Given the description of an element on the screen output the (x, y) to click on. 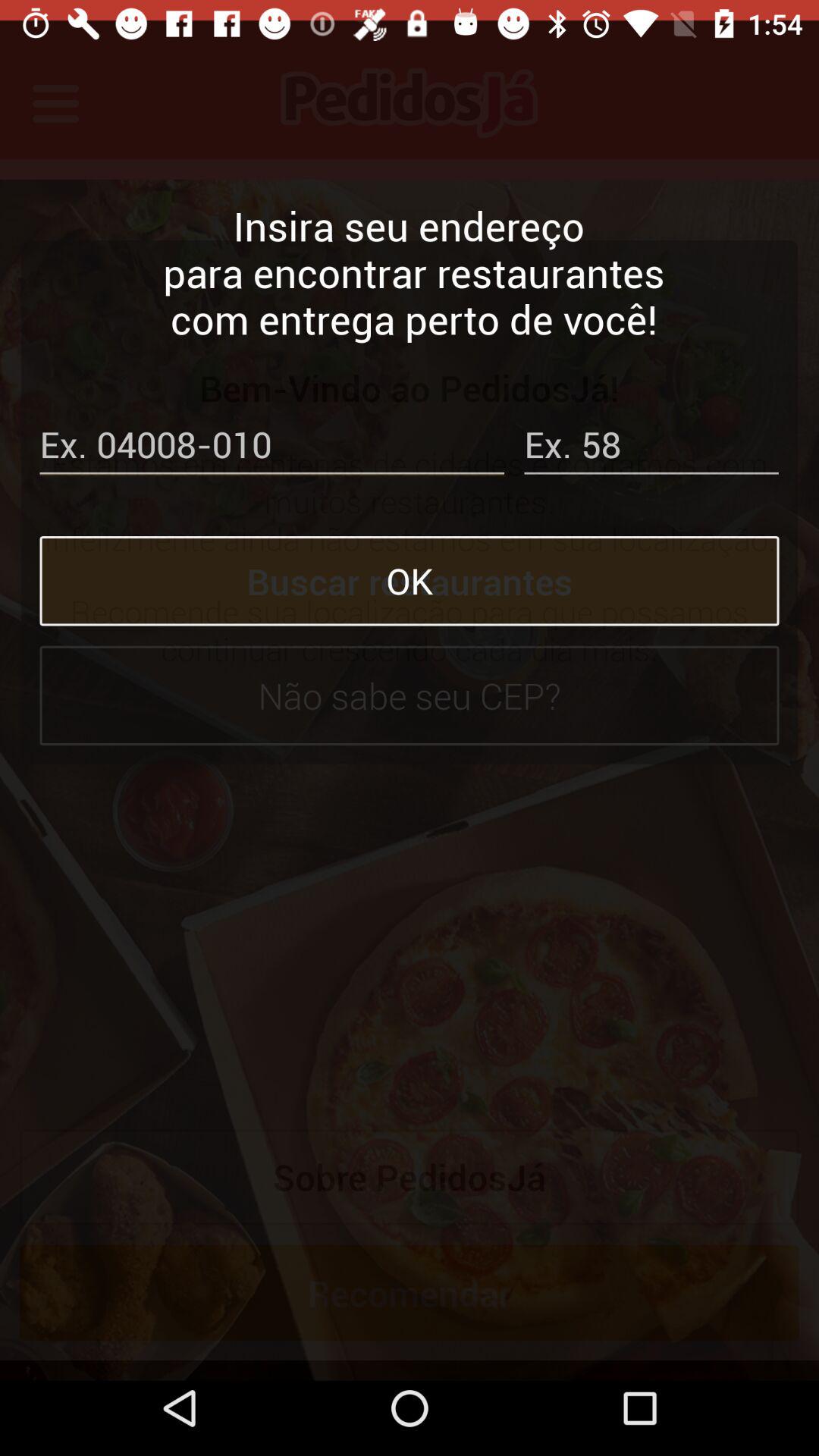
etc (651, 427)
